Given the description of an element on the screen output the (x, y) to click on. 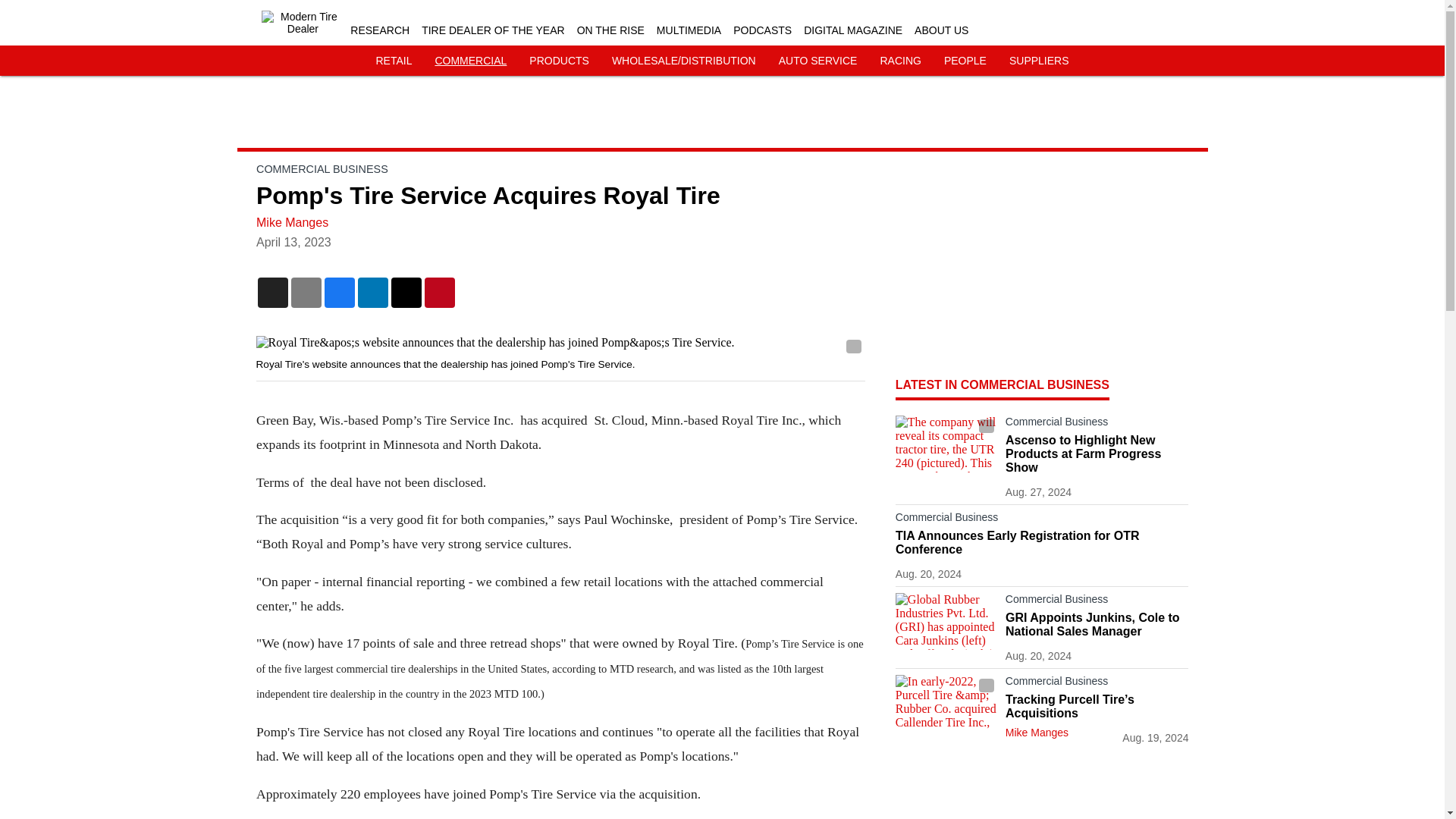
TIRE DEALER OF THE YEAR (493, 30)
SUPPLIERS (1038, 60)
PRODUCTS (559, 60)
RESEARCH (379, 30)
PODCASTS (762, 30)
COMMERCIAL BUSINESS (322, 168)
ABOUT US (941, 30)
Commercial Business (1097, 683)
COMMERCIAL (469, 60)
AUTO SERVICE (817, 60)
